Given the description of an element on the screen output the (x, y) to click on. 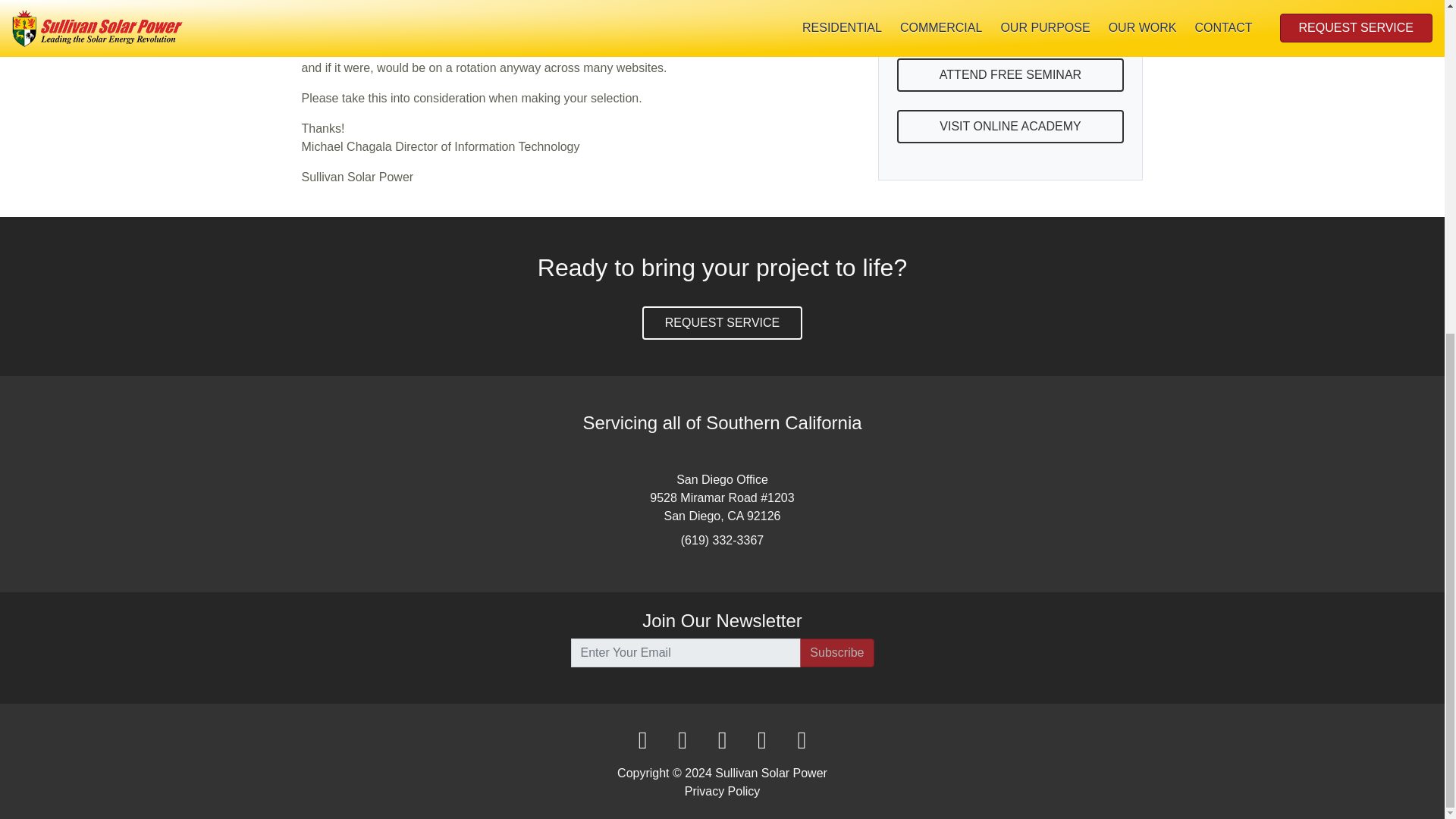
ATTEND FREE SEMINAR (1010, 26)
REQUEST SERVICE (722, 322)
Subscribe (836, 652)
VISIT ONLINE ACADEMY (1010, 78)
